Given the description of an element on the screen output the (x, y) to click on. 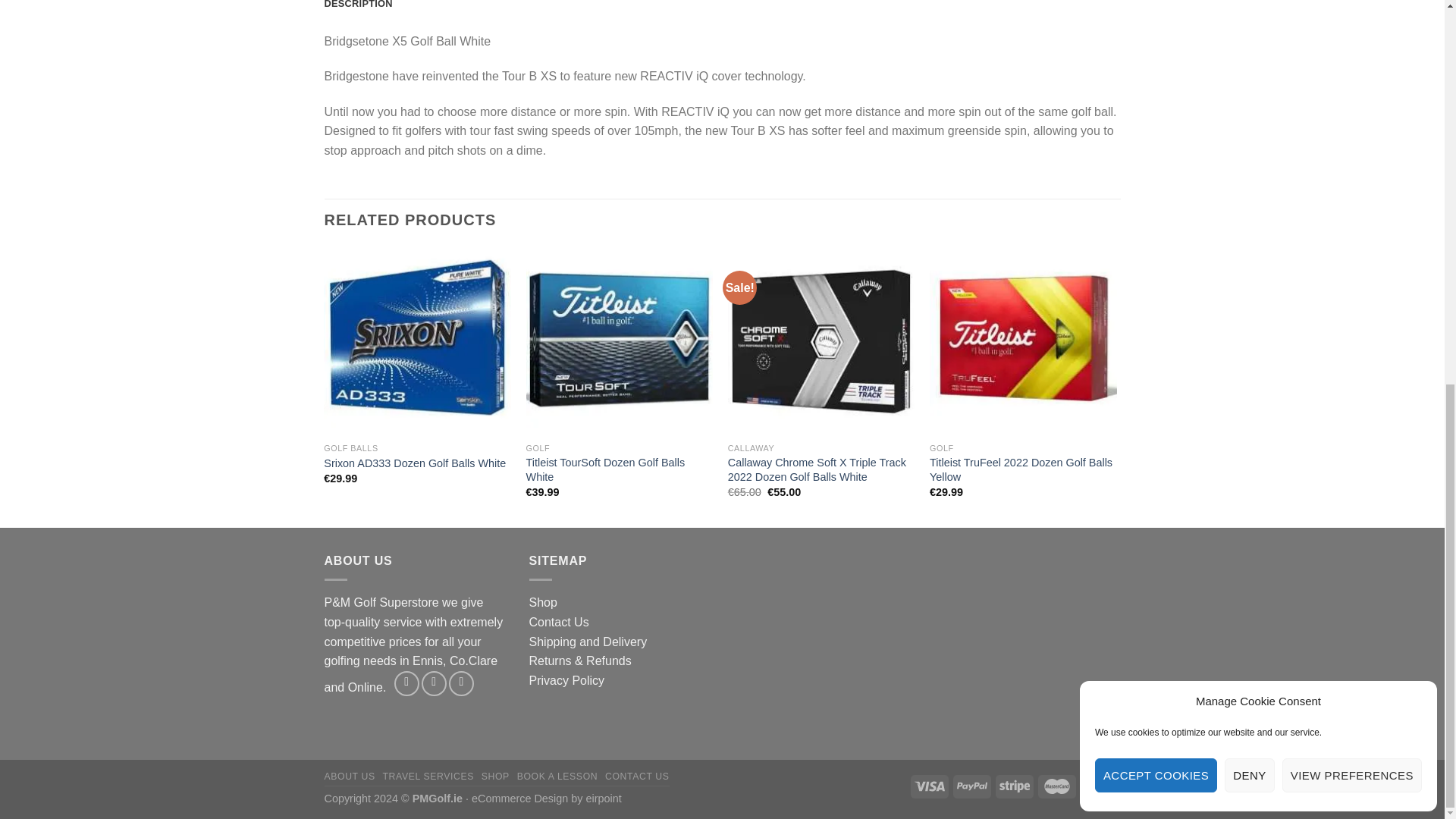
ACCEPT COOKIES (1155, 51)
VIEW PREFERENCES (1352, 51)
DENY (1249, 51)
